Given the description of an element on the screen output the (x, y) to click on. 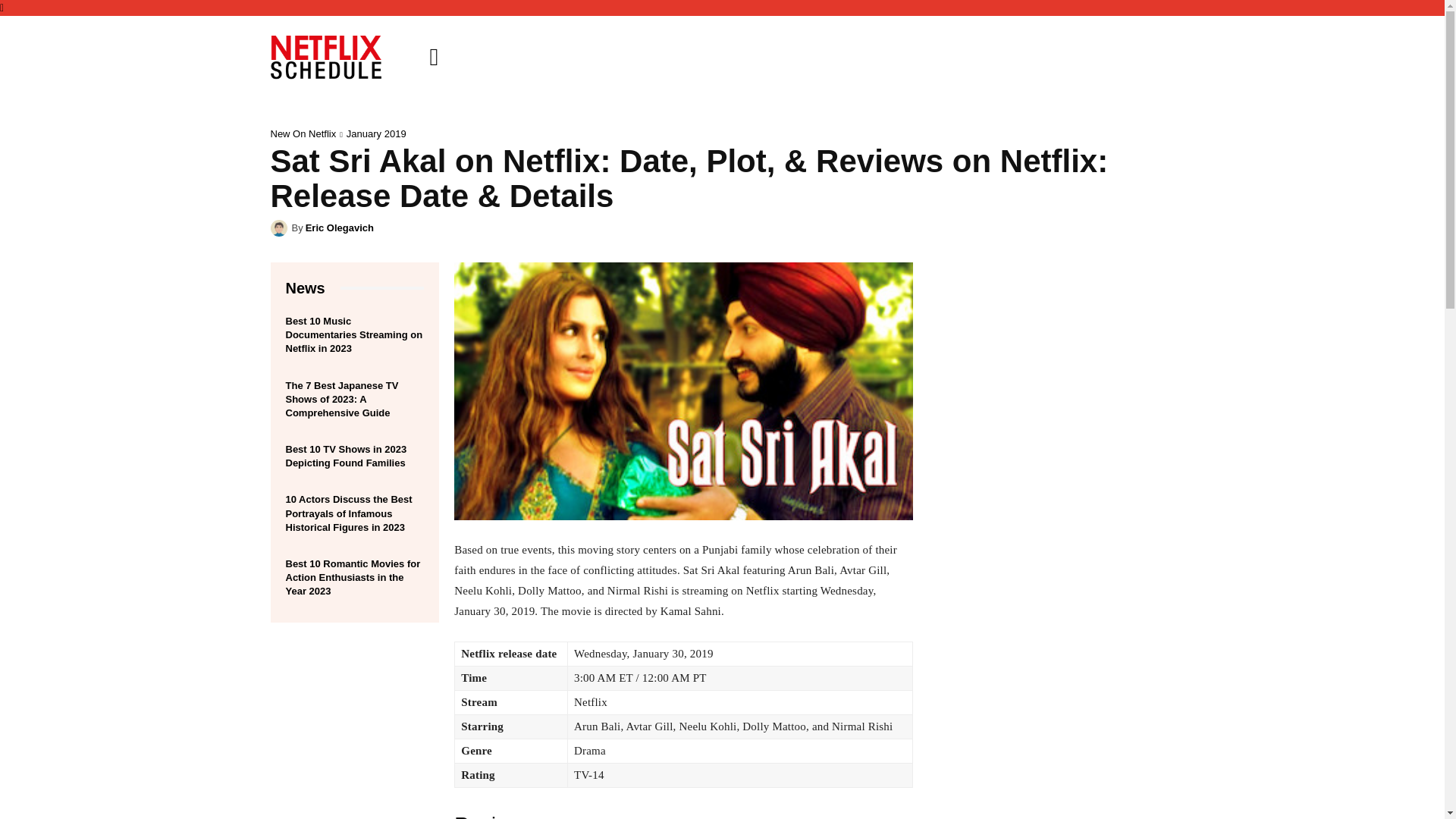
The 7 Best Japanese TV Shows of 2023: A Comprehensive Guide (341, 399)
Eric Olegavich (280, 228)
Best 10 TV Shows in 2023 Depicting Found Families (345, 455)
The 7 Best Japanese TV Shows of 2023: A Comprehensive Guide (341, 399)
Best 10 TV Shows in 2023 Depicting Found Families (345, 455)
Best 10 Music Documentaries Streaming on Netflix in 2023 (353, 334)
January 2019 (376, 133)
View all posts in January 2019 (376, 133)
Eric Olegavich (339, 228)
Best 10 Music Documentaries Streaming on Netflix in 2023 (353, 334)
New On Netflix (302, 133)
